Given the description of an element on the screen output the (x, y) to click on. 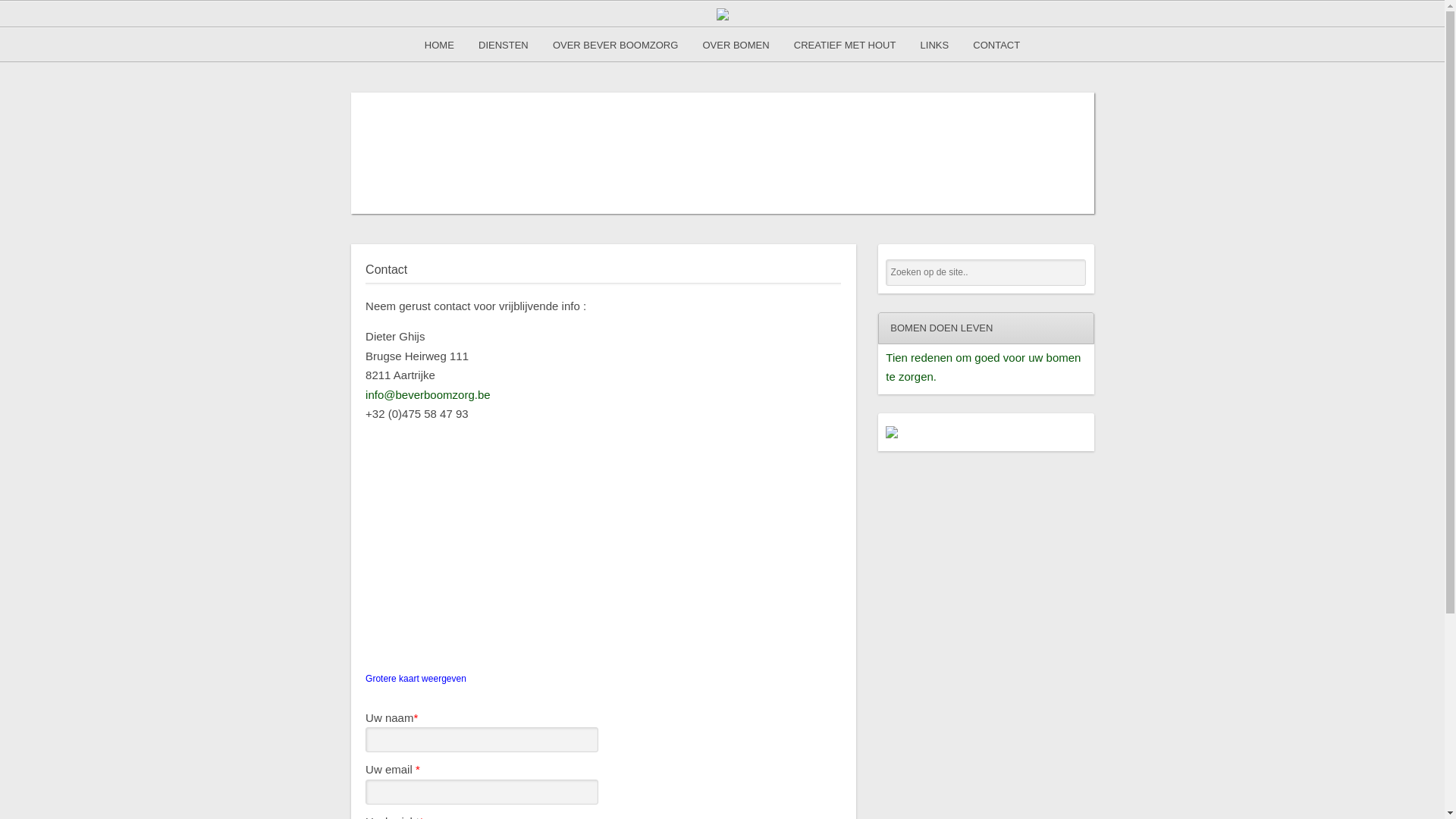
CREATIEF MET HOUT Element type: text (844, 44)
OVER BEVER BOOMZORG Element type: text (615, 44)
DIENSTEN Element type: text (503, 44)
Grotere kaart weergeven Element type: text (415, 678)
Tien redenen om goed voor uw bomen te zorgen. Element type: text (982, 367)
CONTACT Element type: text (996, 44)
info@beverboomzorg.be Element type: text (427, 404)
LINKS Element type: text (935, 44)
OVER BOMEN Element type: text (735, 44)
HOME Element type: text (439, 44)
